Given the description of an element on the screen output the (x, y) to click on. 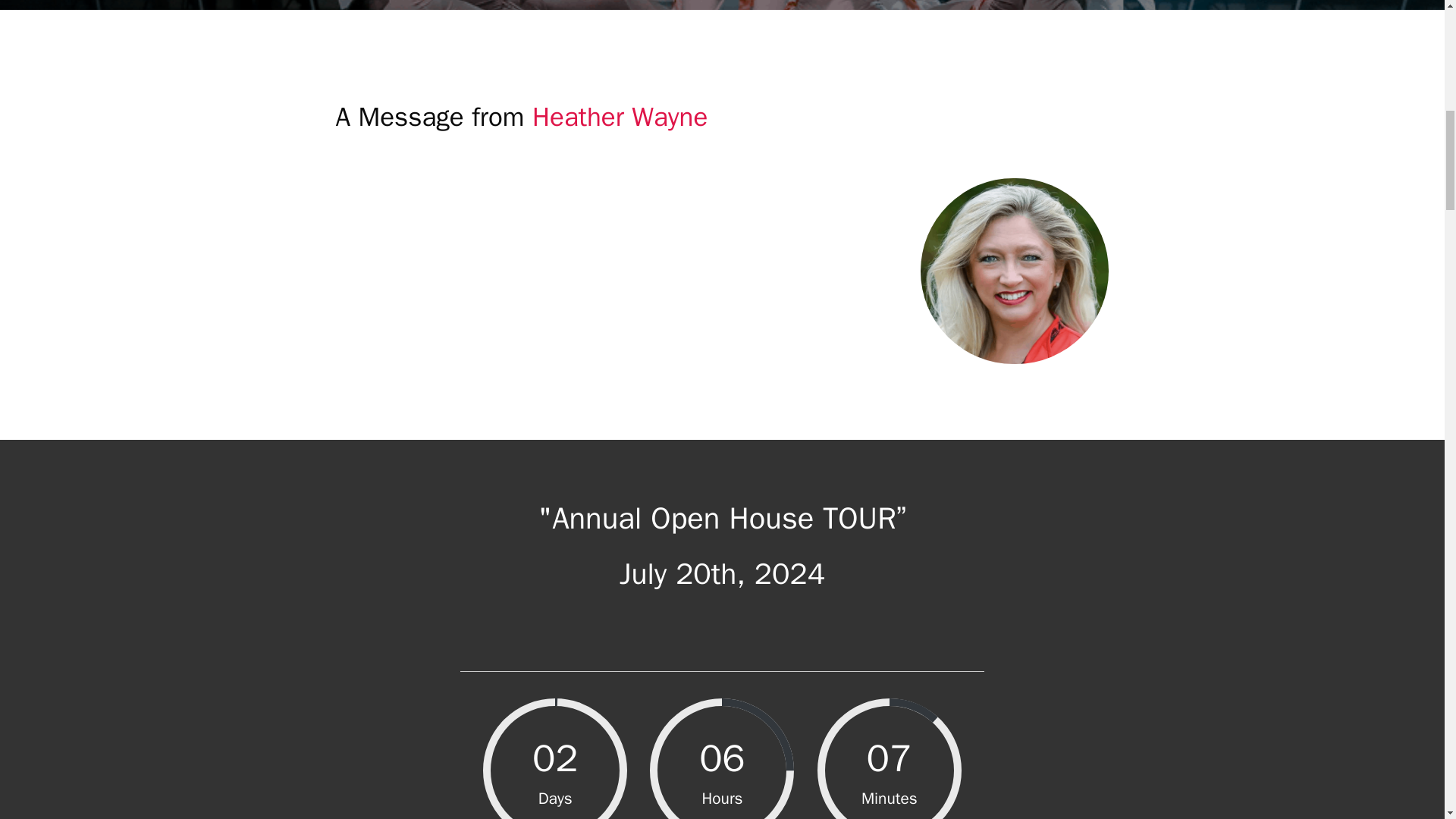
heather wayne (1014, 270)
